Given the description of an element on the screen output the (x, y) to click on. 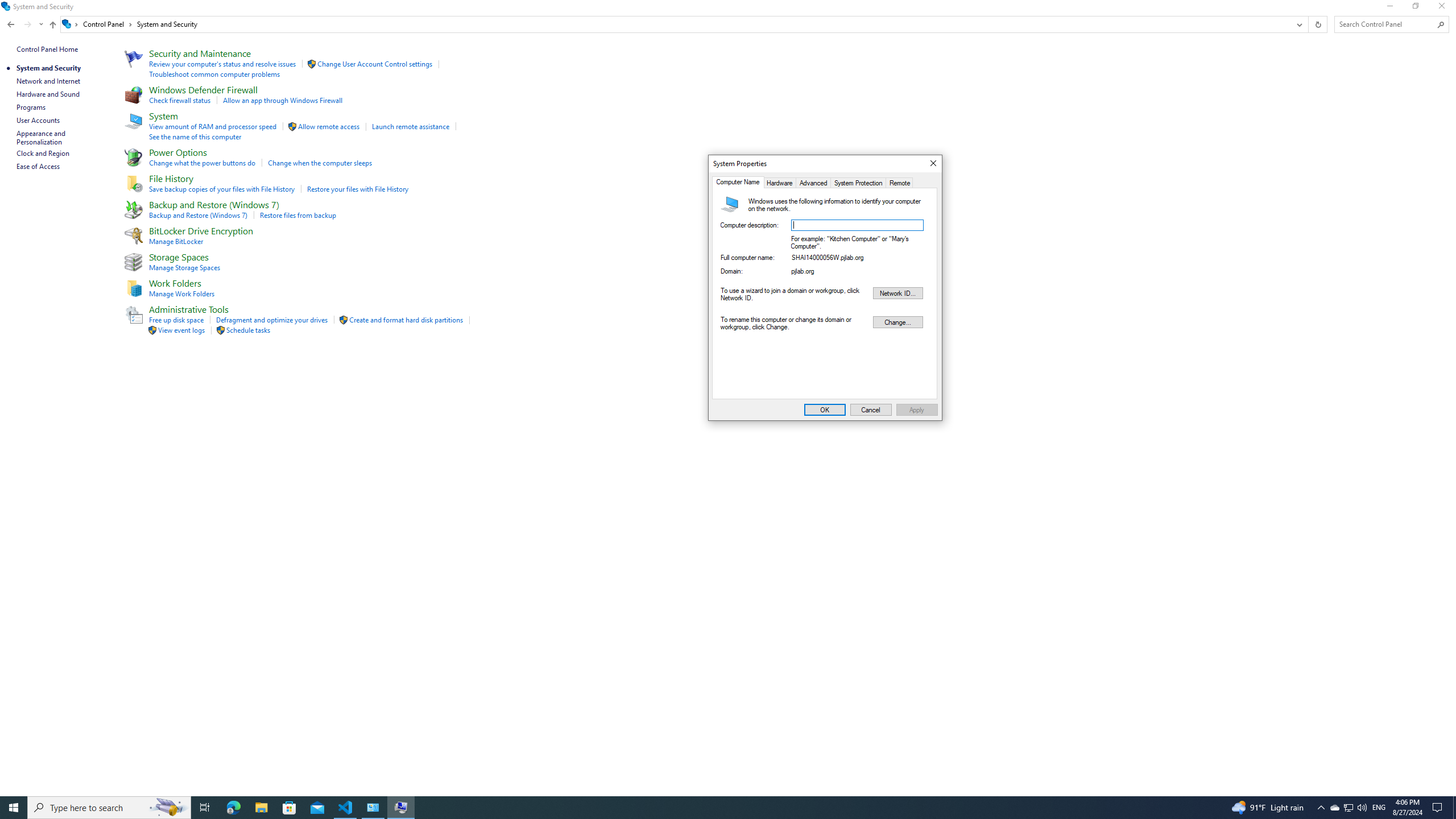
Type here to search (108, 807)
Network ID... (897, 292)
Remote (900, 182)
Computer Name (737, 182)
Search highlights icon opens search home window (167, 807)
Domain: (856, 272)
User Promoted Notification Area (1347, 807)
